Given the description of an element on the screen output the (x, y) to click on. 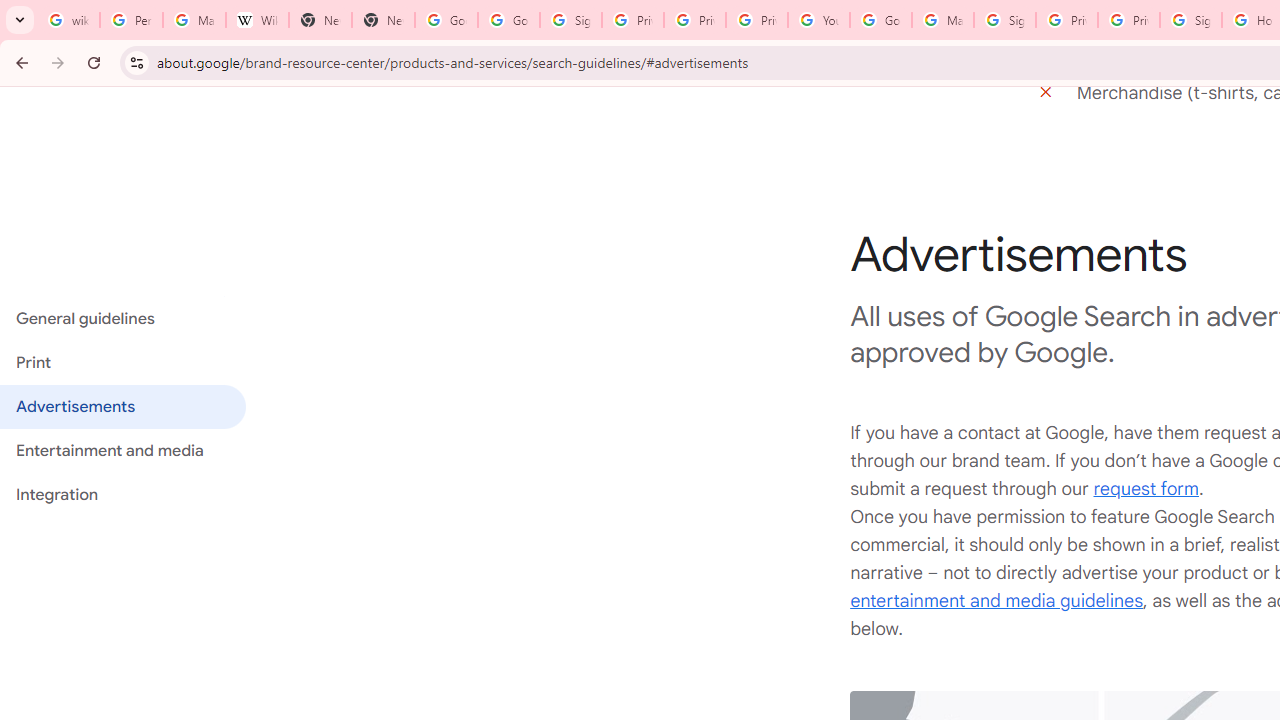
entertainment and media guidelines (996, 600)
